Given the description of an element on the screen output the (x, y) to click on. 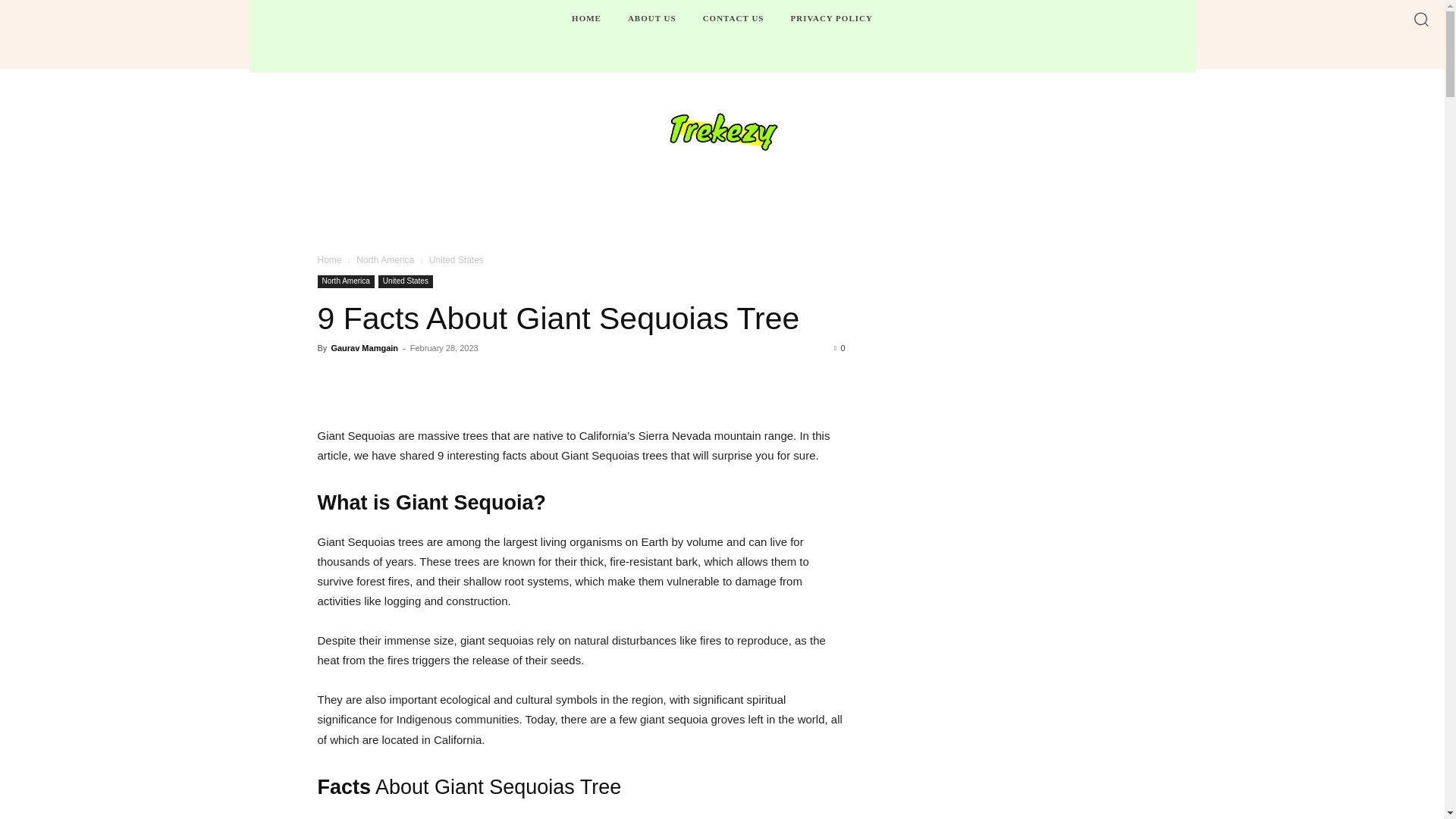
Gaurav Mamgain (363, 347)
0 (839, 347)
PRIVACY POLICY (831, 18)
Home (328, 259)
HOME (586, 18)
United States (405, 281)
North America (345, 281)
ABOUT US (652, 18)
CONTACT US (733, 18)
View all posts in North America (384, 259)
